Given the description of an element on the screen output the (x, y) to click on. 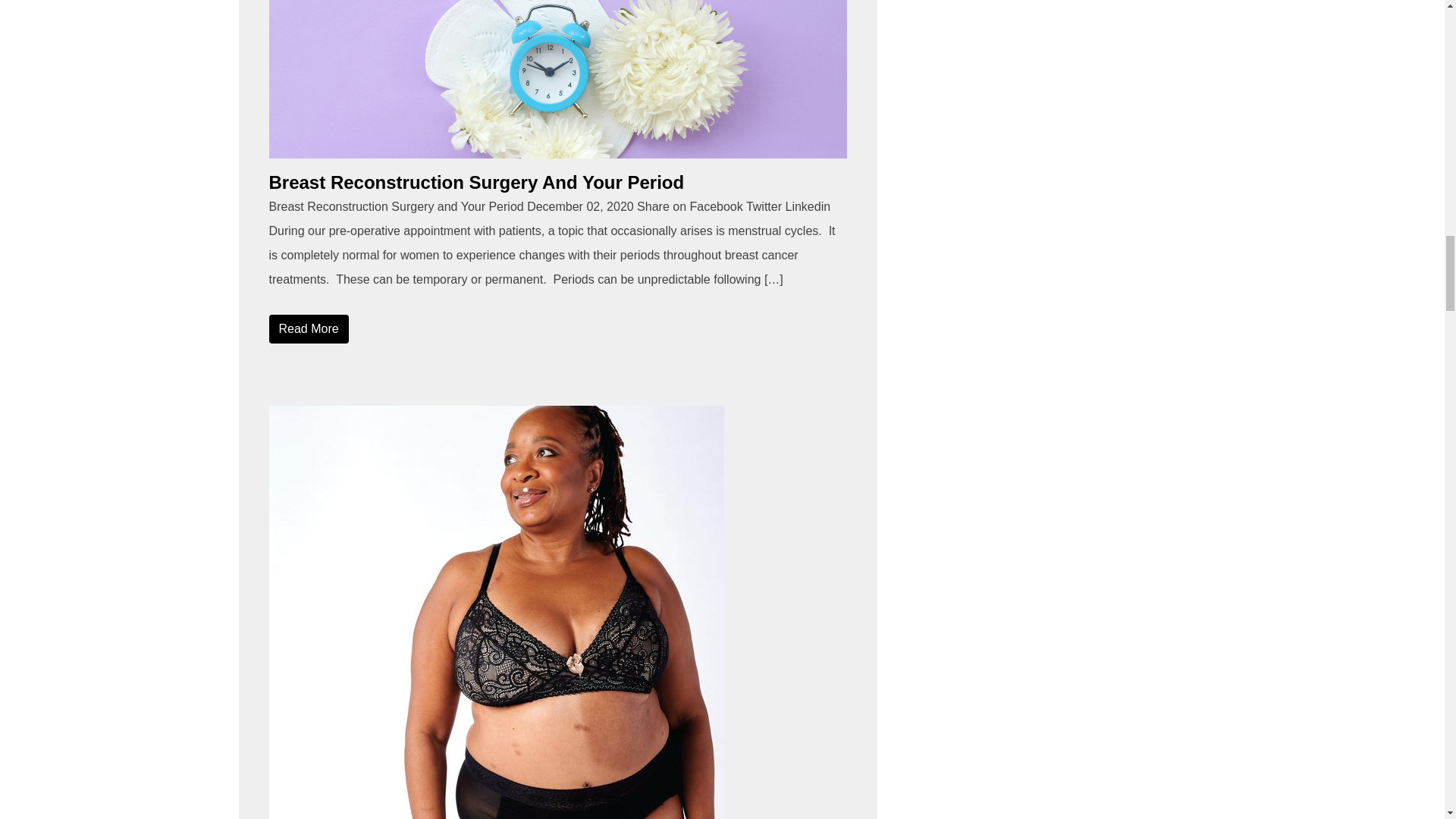
Breast Reconstruction Surgery and Your Period (557, 79)
